Given the description of an element on the screen output the (x, y) to click on. 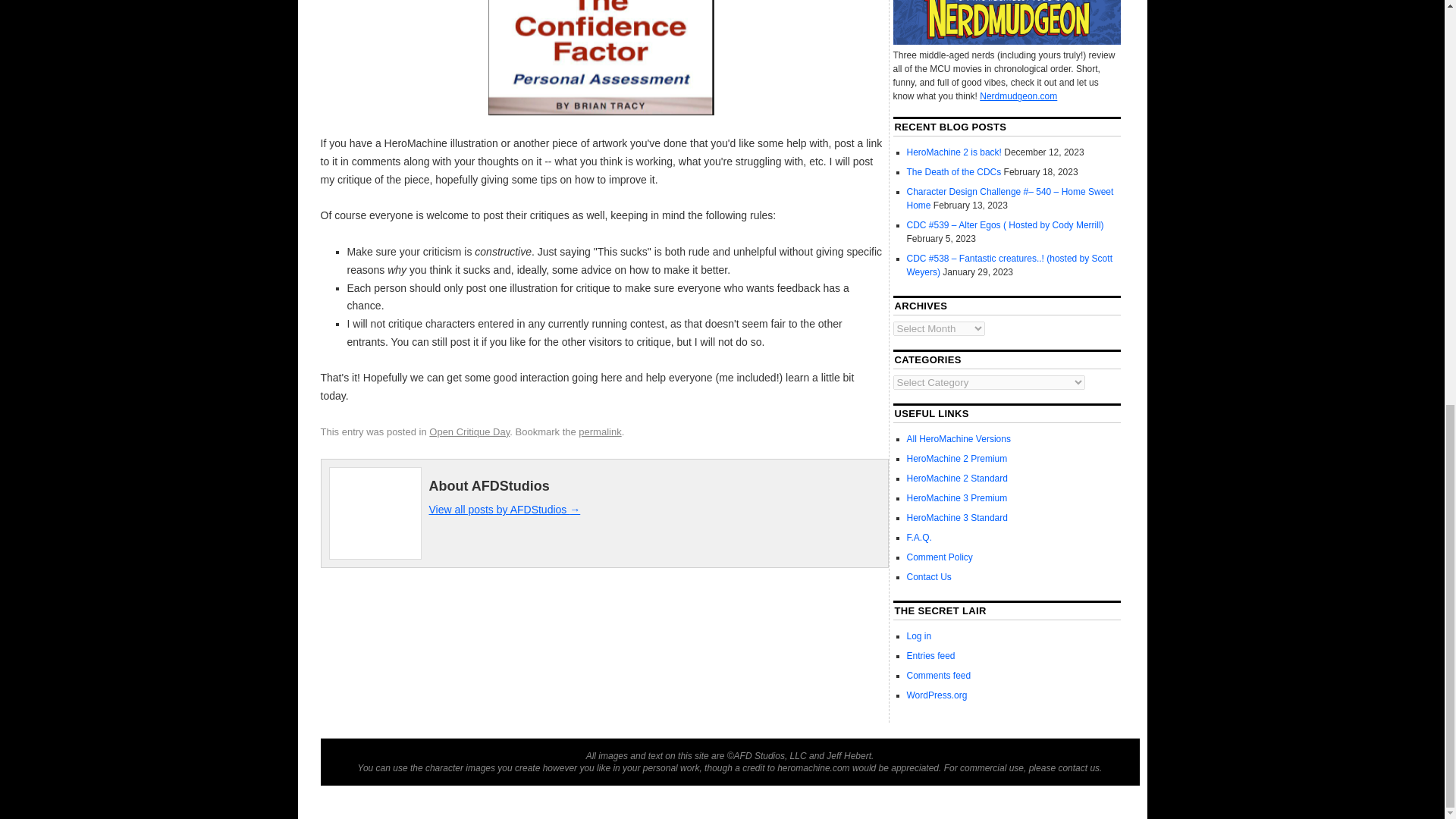
permalink (599, 431)
Nerdmudgeon.com (1018, 95)
Permalink to Open Critique Day 35 (599, 431)
The Death of the CDCs (954, 172)
HeroMachine 3 Standard (957, 517)
HeroMachine 2 is back! (954, 152)
HeroMachine 2 Premium (957, 458)
HeroMachine 3 Premium (957, 498)
All HeroMachine Versions (958, 439)
HeroMachine 2 Standard (957, 478)
Open Critique Day (469, 431)
Comment Policy (939, 557)
confidencefactor (600, 58)
F.A.Q. (919, 537)
